Given the description of an element on the screen output the (x, y) to click on. 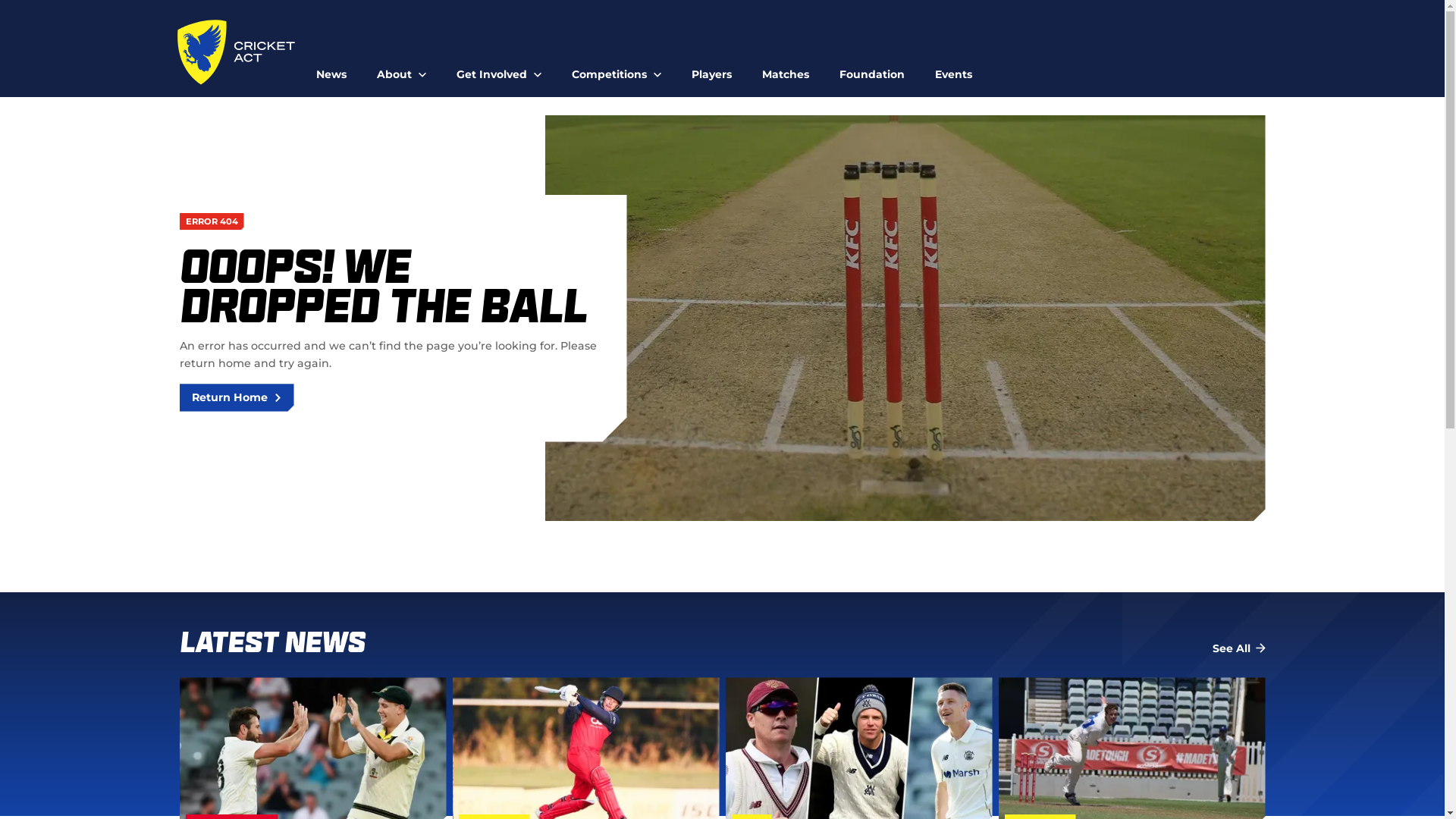
See All Element type: text (1237, 648)
Matches Element type: text (785, 68)
Return to Homepage Element type: hover (235, 51)
Get Involved Element type: text (498, 68)
Competitions Element type: text (616, 68)
News Element type: text (331, 68)
Foundation Element type: text (871, 68)
About Element type: text (401, 68)
Return Home Element type: text (235, 397)
Events Element type: text (953, 68)
Players Element type: text (711, 68)
